Given the description of an element on the screen output the (x, y) to click on. 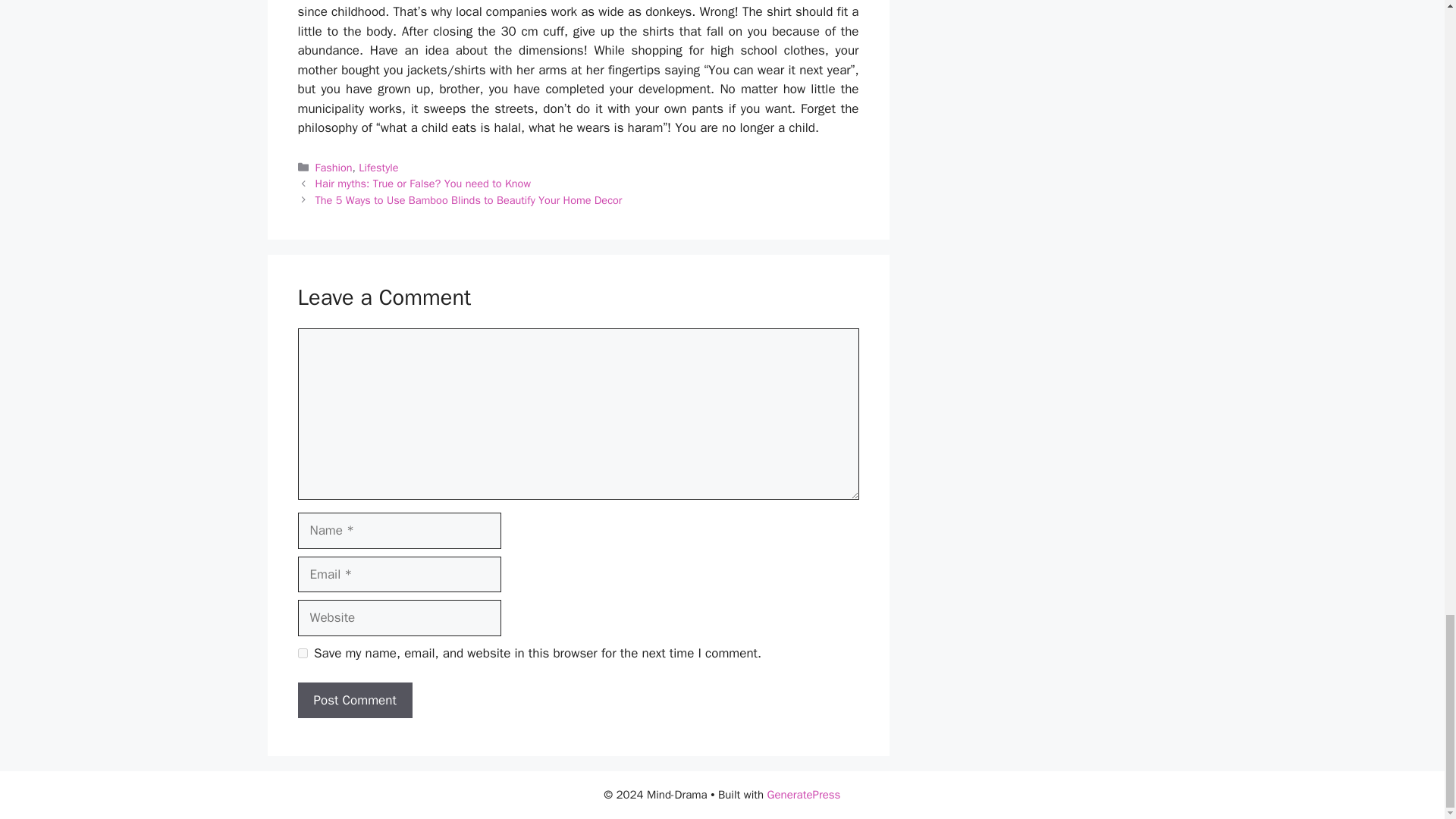
Post Comment (354, 700)
Hair myths: True or False? You need to Know (423, 183)
Post Comment (354, 700)
Lifestyle (377, 167)
GeneratePress (804, 794)
The 5 Ways to Use Bamboo Blinds to Beautify Your Home Decor (469, 200)
Fashion (333, 167)
yes (302, 653)
